Given the description of an element on the screen output the (x, y) to click on. 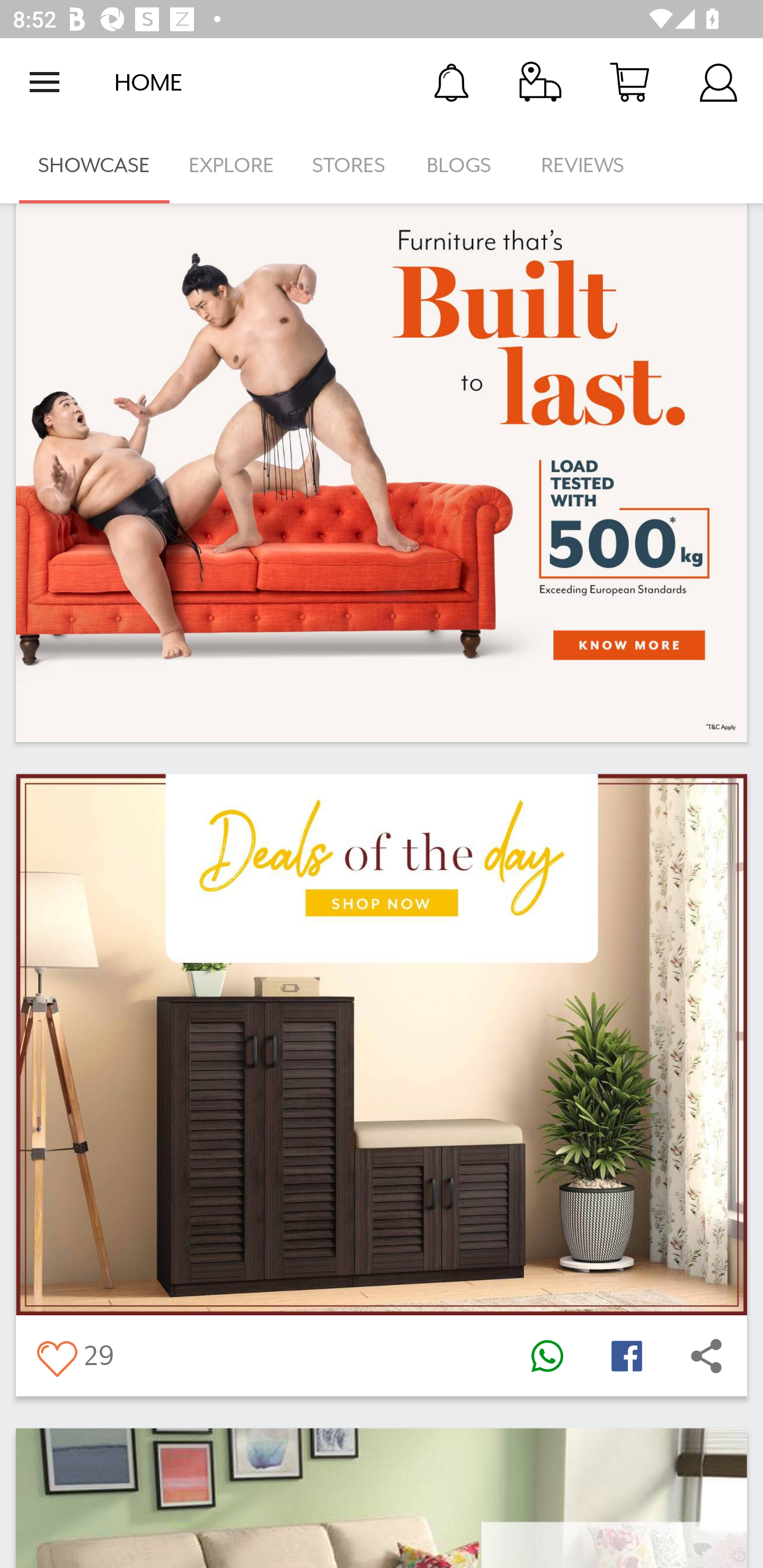
Open navigation drawer (44, 82)
Notification (450, 81)
Track Order (540, 81)
Cart (629, 81)
Account Details (718, 81)
SHOWCASE (94, 165)
EXPLORE (230, 165)
STORES (349, 165)
BLOGS (464, 165)
REVIEWS (582, 165)
 (55, 1355)
 (547, 1355)
 (626, 1355)
 (706, 1355)
